Given the description of an element on the screen output the (x, y) to click on. 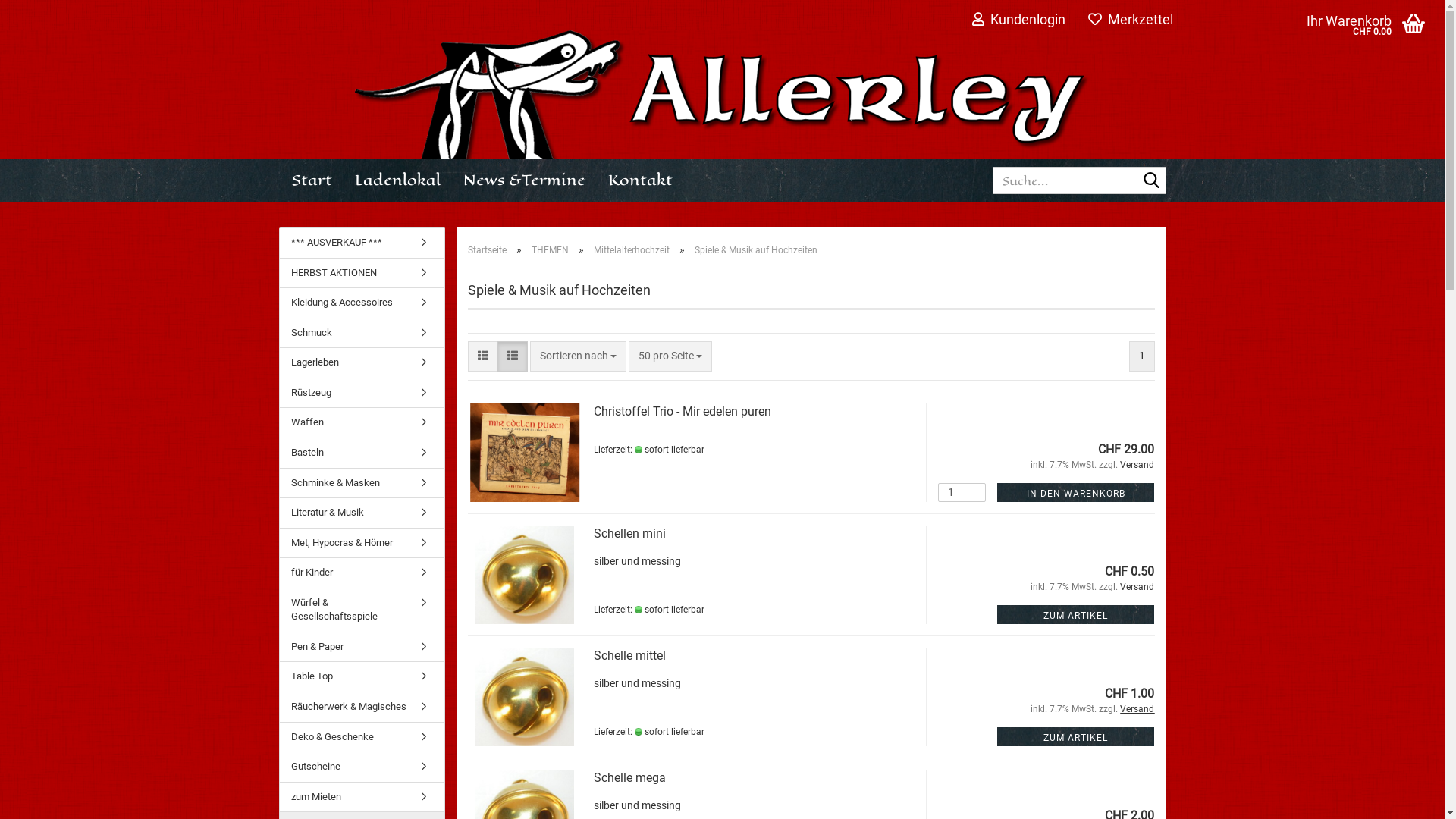
 Merkzettel Element type: text (1130, 18)
*** AUSVERKAUF *** Element type: text (361, 242)
 Kundenlogin Element type: text (1018, 18)
Schmuck Element type: text (361, 333)
Kleidung & Accessoires Element type: text (361, 302)
Waffen Element type: text (361, 422)
Ladenlokal Element type: text (396, 180)
ZUM ARTIKEL Element type: text (1075, 614)
Mittelalterhochzeit Element type: text (630, 249)
sofort lieferbar Element type: hover (637, 449)
sofort lieferbar Element type: hover (637, 609)
Kontakt Element type: text (639, 180)
Christoffel Trio - Mir edelen puren Element type: text (681, 411)
Schminke & Masken Element type: text (361, 483)
Basteln Element type: text (361, 452)
Pen & Paper Element type: text (361, 647)
Table Top Element type: text (361, 676)
sofort lieferbar Element type: hover (637, 731)
Start Element type: text (311, 180)
ZUM ARTIKEL Element type: text (1075, 736)
Literatur & Musik Element type: text (361, 512)
zum Mieten Element type: text (361, 797)
Anmelden Element type: text (936, 193)
News &Termine Element type: text (523, 180)
Deko & Geschenke Element type: text (361, 737)
Startseite Element type: text (486, 249)
Versand Element type: text (1137, 464)
HERBST AKTIONEN Element type: text (361, 273)
THEMEN Element type: text (548, 249)
IN DEN WARENKORB Element type: text (1075, 492)
Versand Element type: text (1137, 708)
Schelle mega Element type: text (629, 777)
Sortieren nach Element type: text (577, 356)
Versand Element type: text (1137, 586)
Allerley MittelalterKontor Element type: hover (722, 94)
50 pro Seite Element type: text (669, 356)
Lagerleben Element type: text (361, 362)
Schelle mittel Element type: text (629, 655)
Gutscheine Element type: text (361, 766)
Schellen mini Element type: text (629, 533)
Ihr Warenkorb
CHF 0.00 Element type: text (1324, 34)
